Given the description of an element on the screen output the (x, y) to click on. 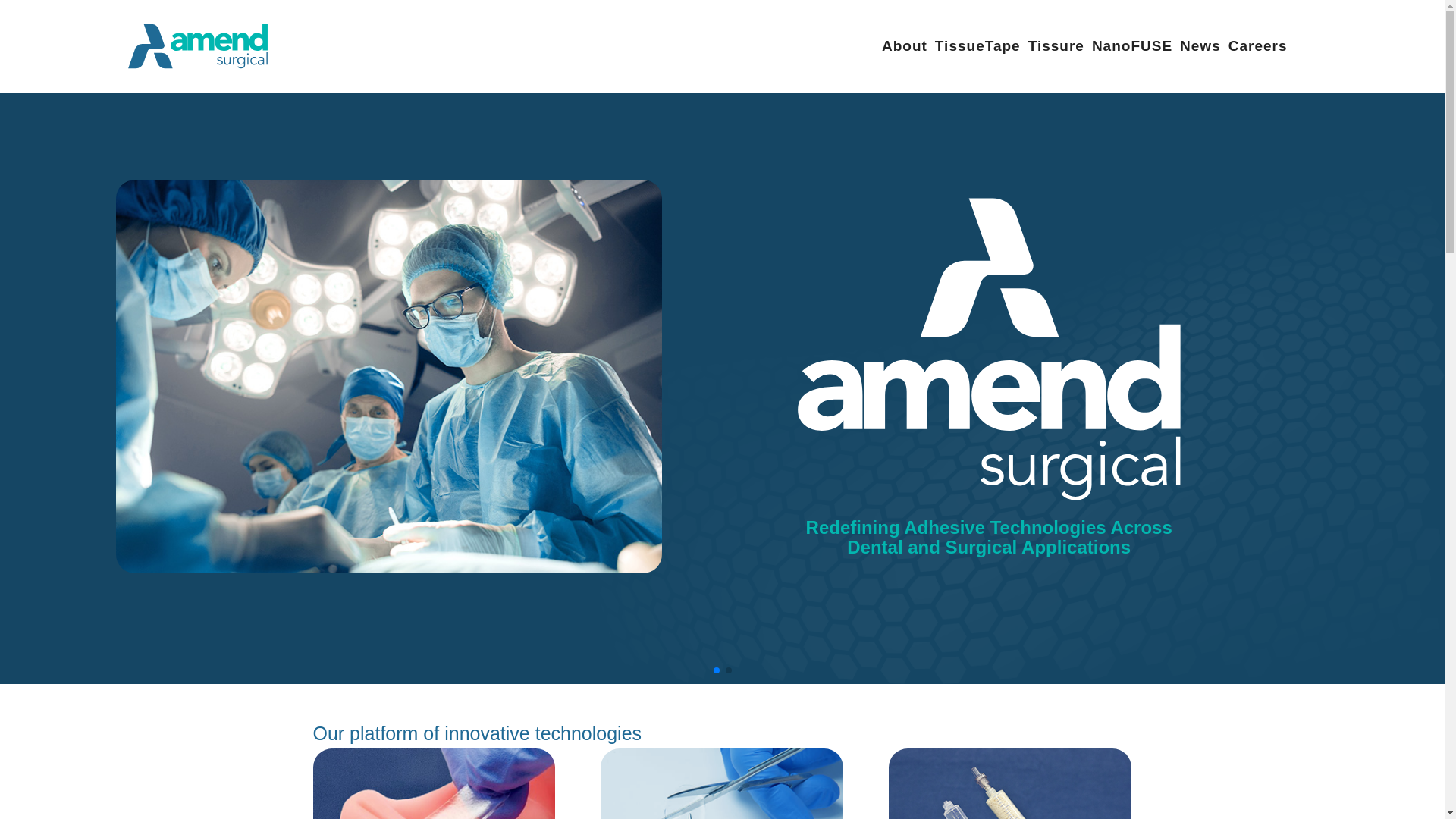
Careers (1257, 46)
TissueTape (978, 46)
Tissure (1056, 46)
NanoFUSE (1131, 46)
News (1200, 46)
About (904, 46)
